Given the description of an element on the screen output the (x, y) to click on. 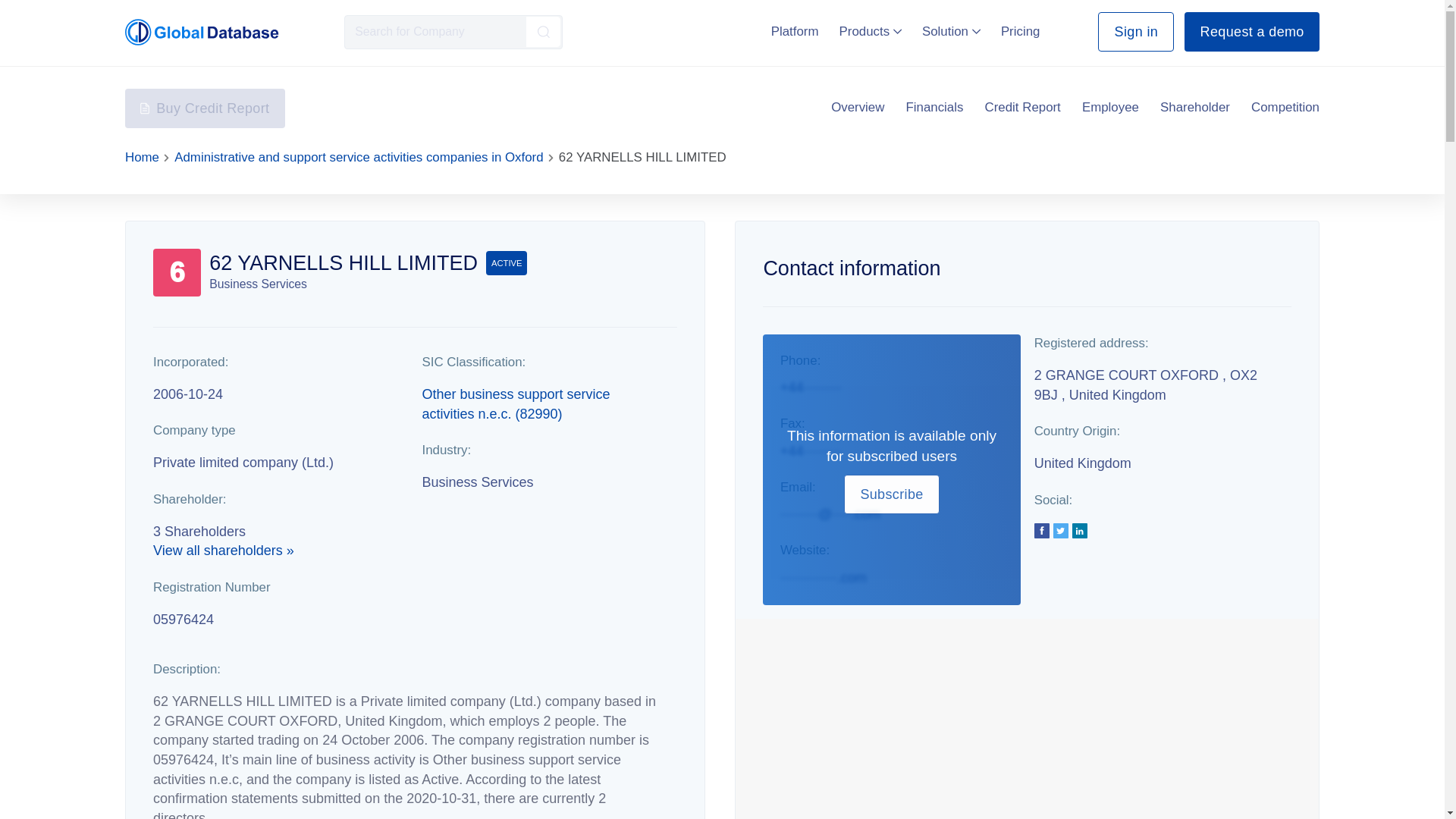
Overview (857, 107)
Buy Credit Report (205, 107)
Shareholder (1195, 107)
Financials (934, 107)
Pricing (1021, 31)
Credit Report (1023, 107)
Platform (794, 31)
Sign in (1135, 31)
Request a demo (1252, 31)
Employee (1109, 107)
